Given the description of an element on the screen output the (x, y) to click on. 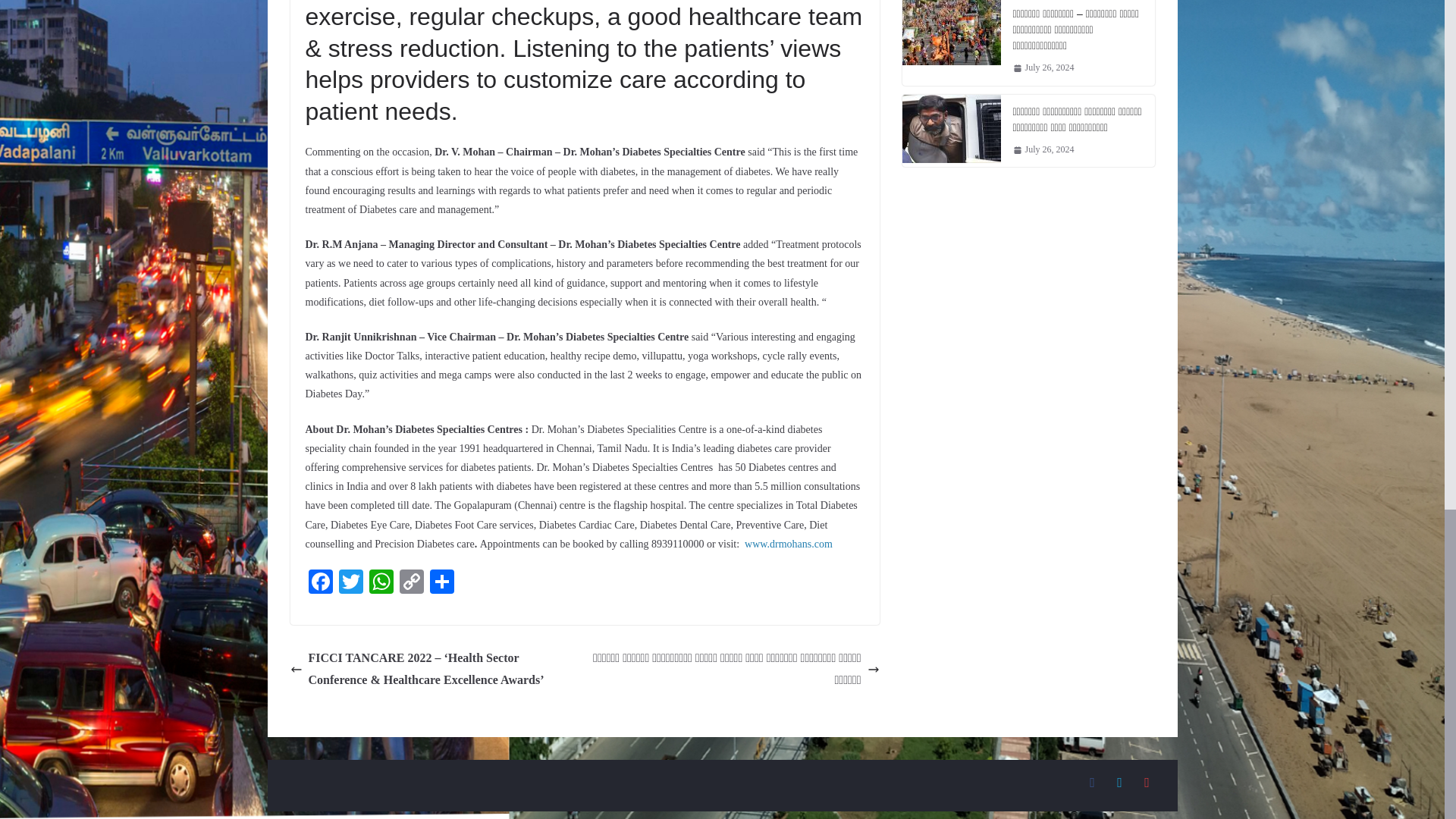
WhatsApp (380, 583)
Facebook (319, 583)
Twitter (349, 583)
Copy Link (411, 583)
